Given the description of an element on the screen output the (x, y) to click on. 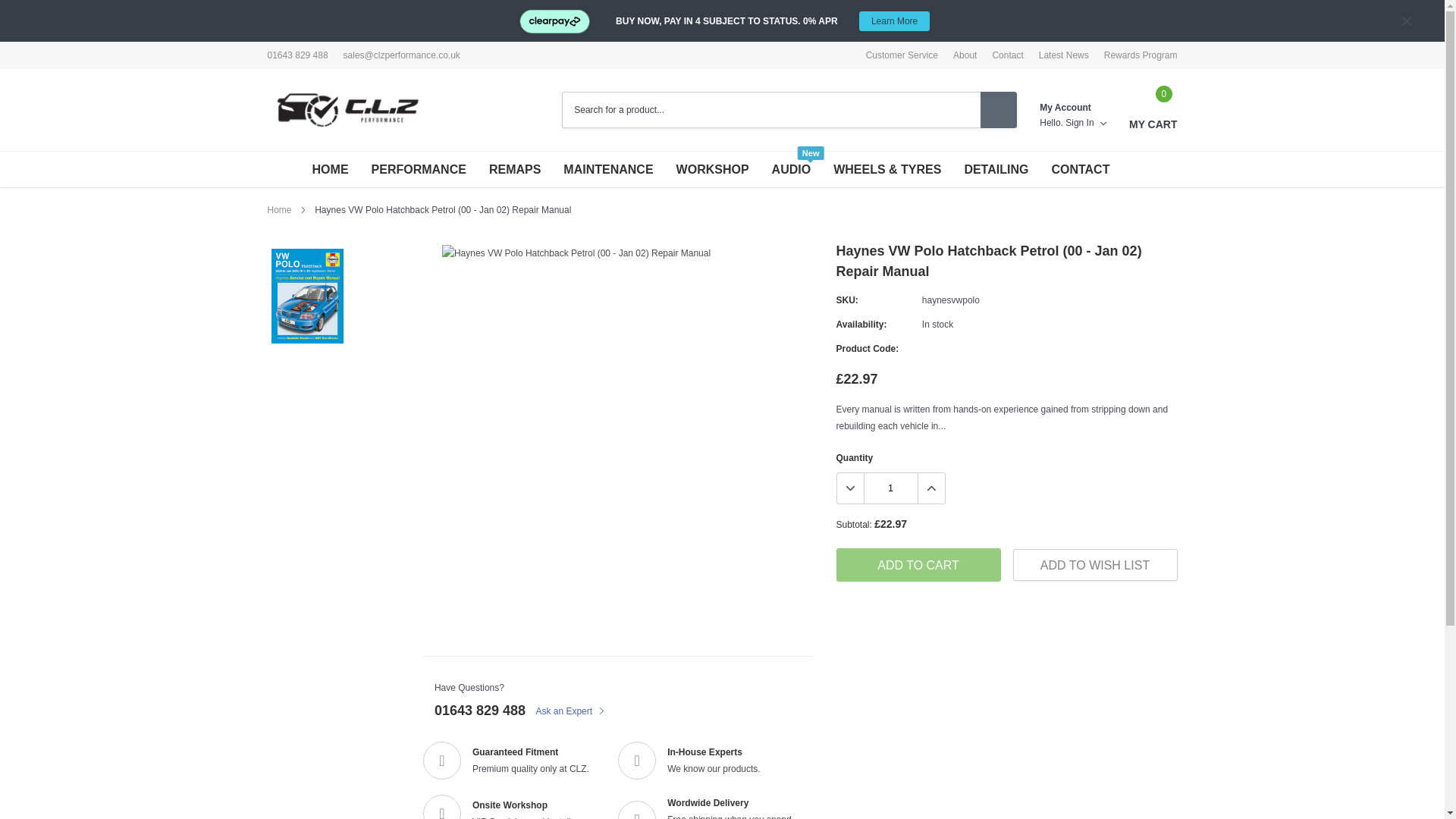
search (997, 109)
Contact (1007, 54)
Latest News (1064, 54)
Rewards Program (1140, 54)
About (964, 54)
1 (890, 488)
Customer Service (901, 54)
